Given the description of an element on the screen output the (x, y) to click on. 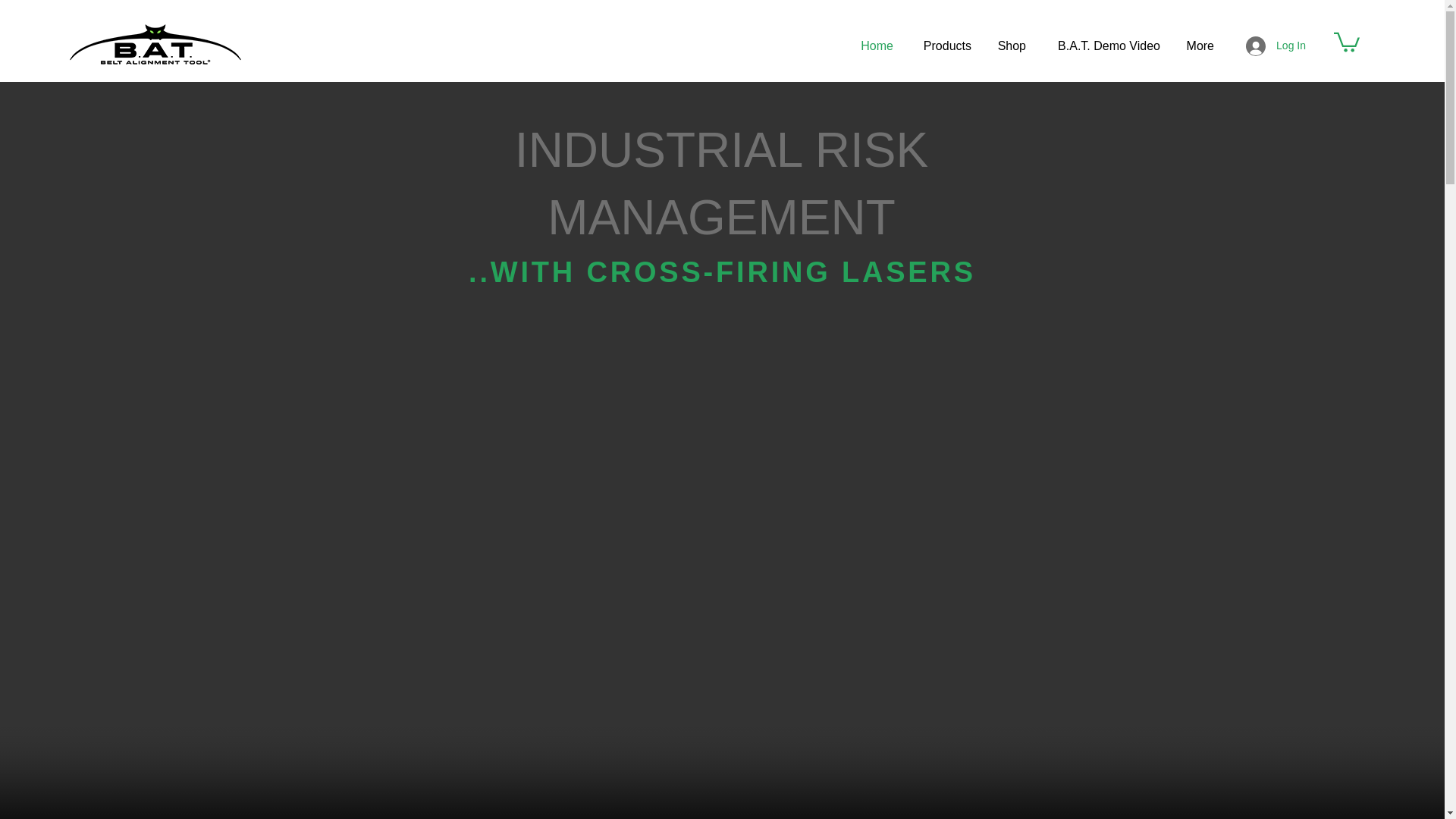
B.A.T. Demo Video (1104, 46)
Shop (1009, 46)
Products (943, 46)
Log In (1275, 45)
Home (874, 46)
